Given the description of an element on the screen output the (x, y) to click on. 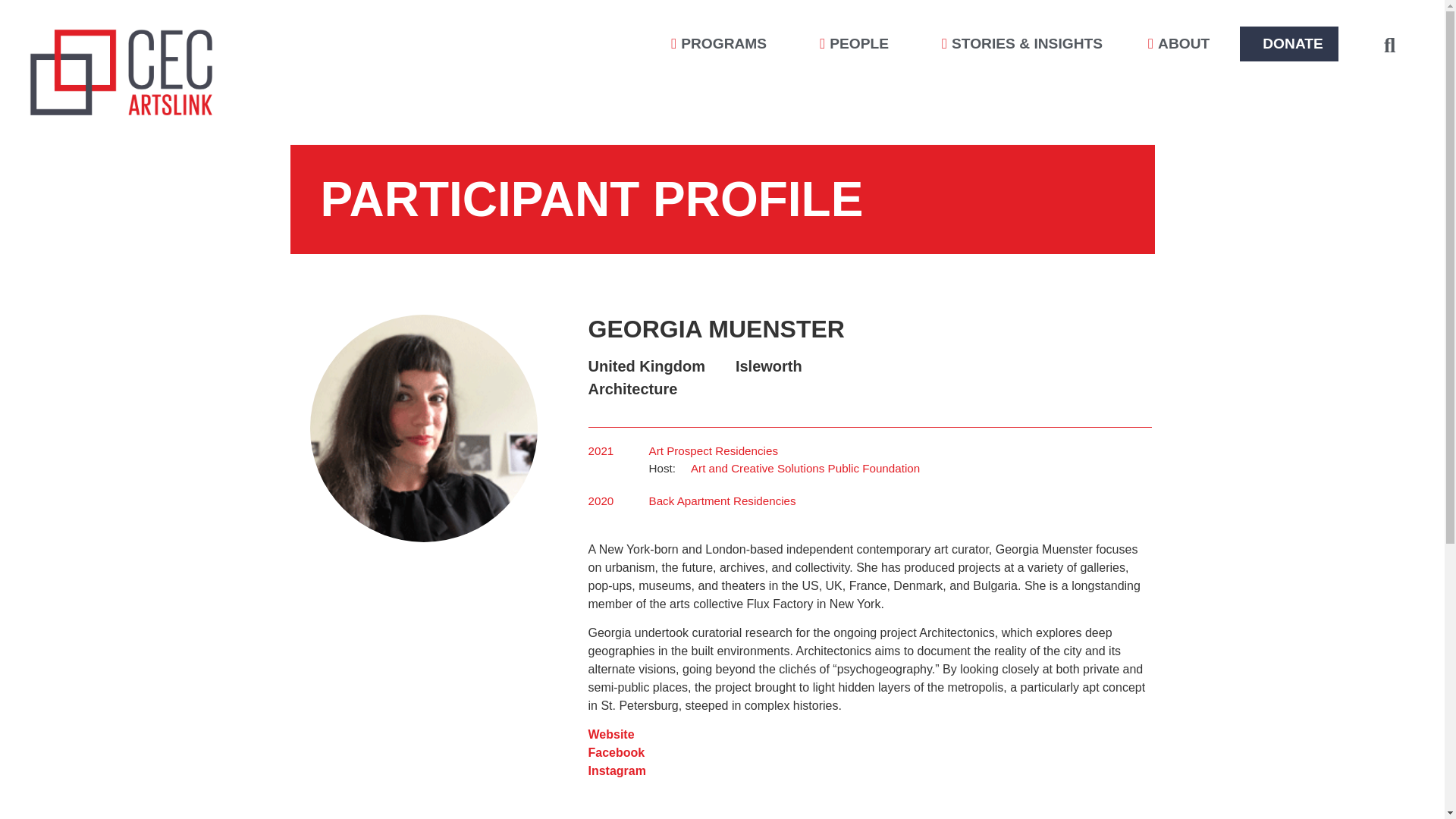
PEOPLE (858, 43)
ABOUT (1181, 43)
PROGRAMS (722, 43)
DONATE (1292, 43)
